Given the description of an element on the screen output the (x, y) to click on. 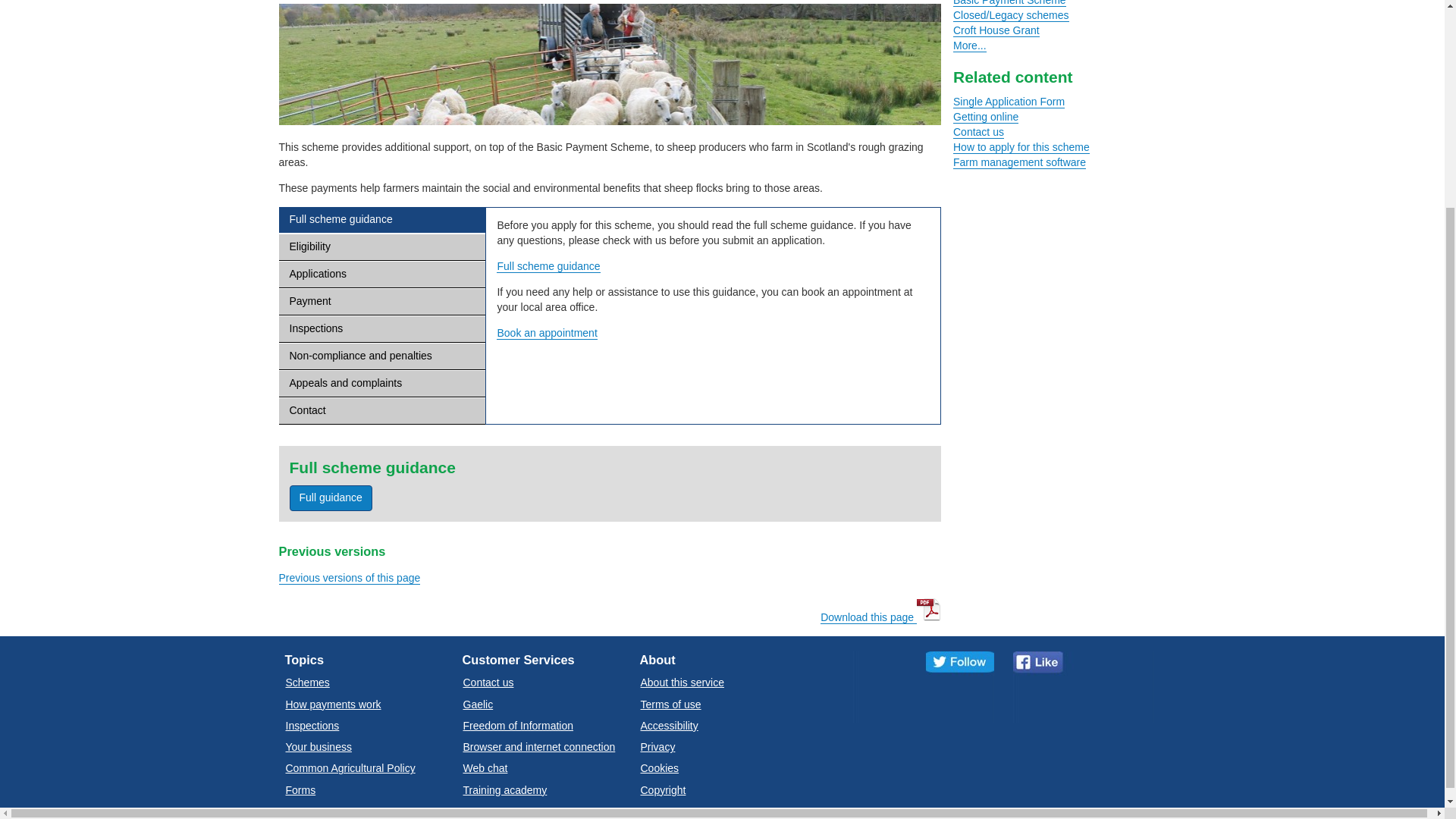
Getting online (985, 116)
Payment (382, 302)
Applications (382, 274)
Contact (382, 411)
Full scheme guidance (382, 220)
Full scheme guidance (547, 266)
Book and appointment (546, 332)
Sheep at market - picture copyright : Alan Fraser  (610, 64)
Contact us (978, 132)
Full scheme guidance (547, 266)
Single Application Form (1008, 101)
Appeals and complaints (382, 384)
Non-compliance and penalties (382, 356)
Previous versions of this page (349, 577)
Eligibility (382, 247)
